Given the description of an element on the screen output the (x, y) to click on. 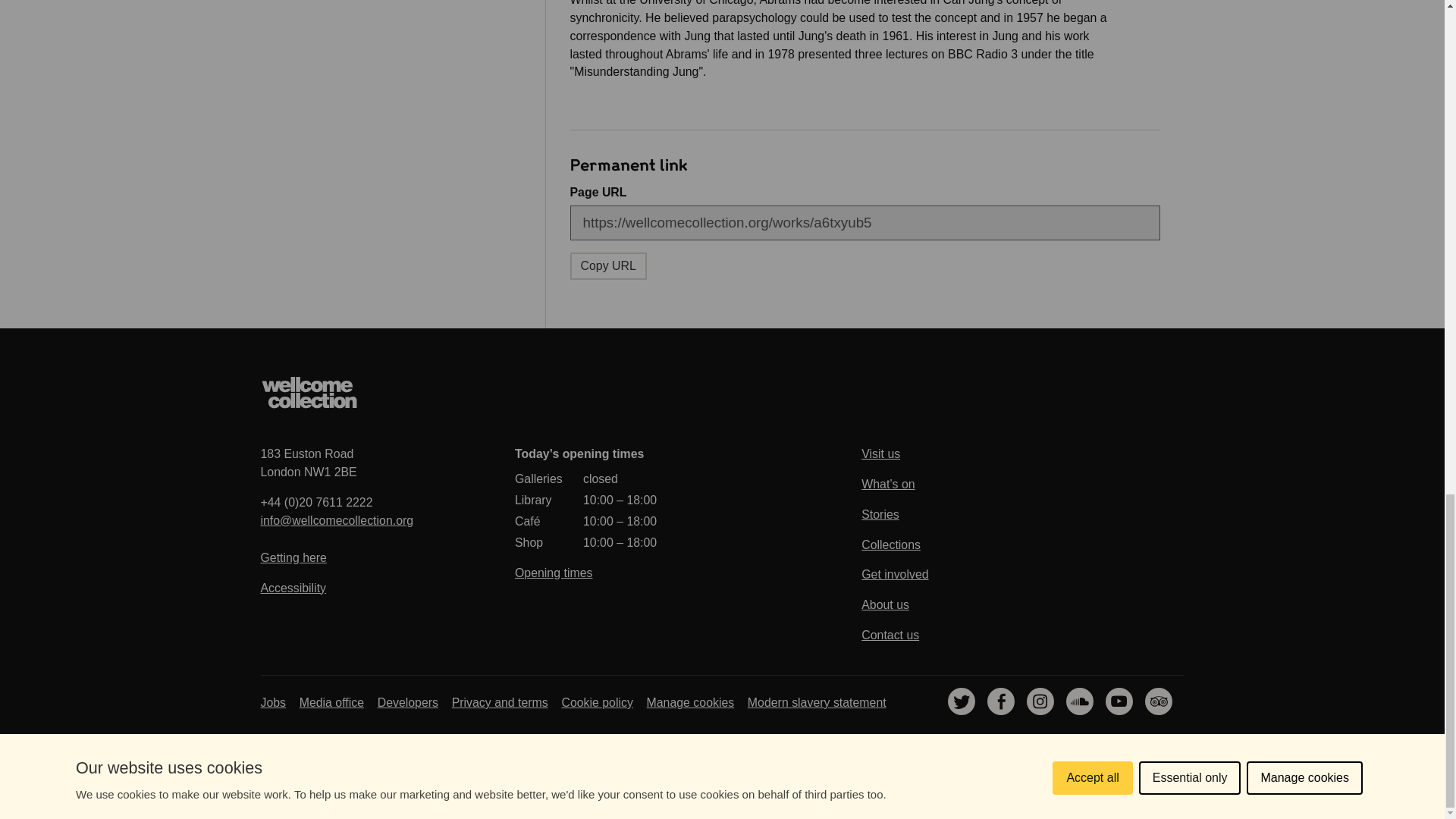
Accessibility (293, 587)
Copy URL (608, 266)
Getting here (293, 557)
Opening times (308, 462)
